Given the description of an element on the screen output the (x, y) to click on. 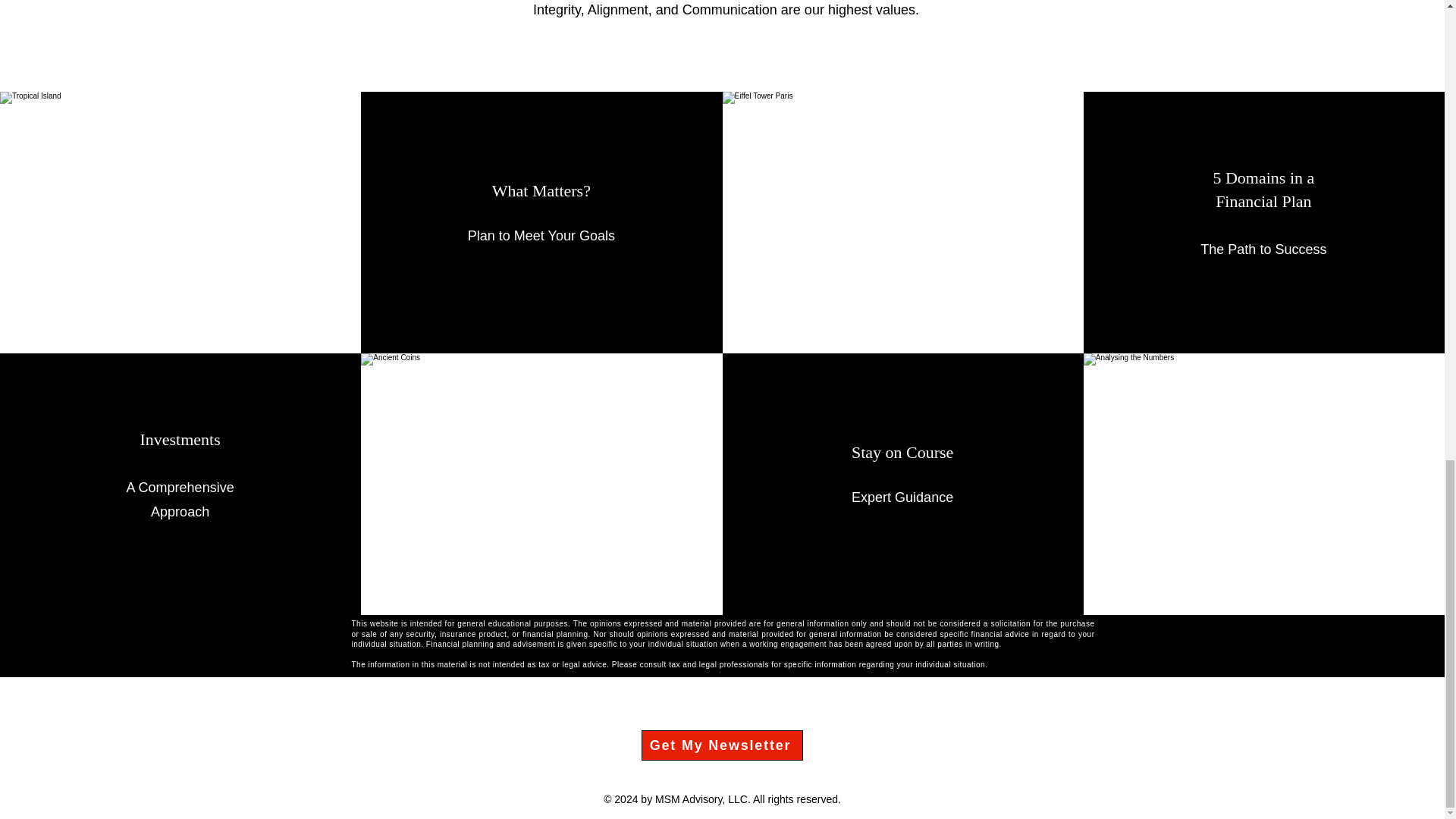
Get My Newsletter (722, 745)
